Given the description of an element on the screen output the (x, y) to click on. 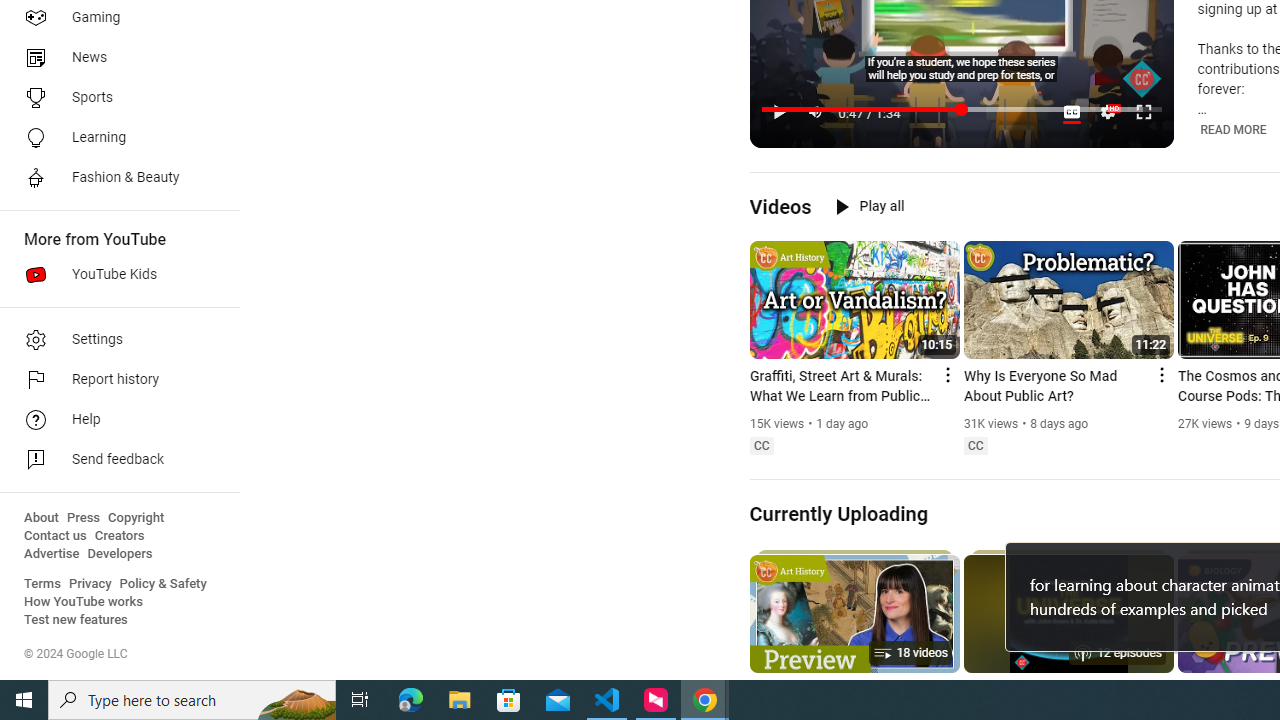
Currently Uploading (838, 513)
About (41, 518)
Mute (m) (815, 112)
Channel watermark (1141, 79)
Subtitles/closed captions unavailable (1071, 112)
News (113, 57)
How YouTube works (83, 602)
